Given the description of an element on the screen output the (x, y) to click on. 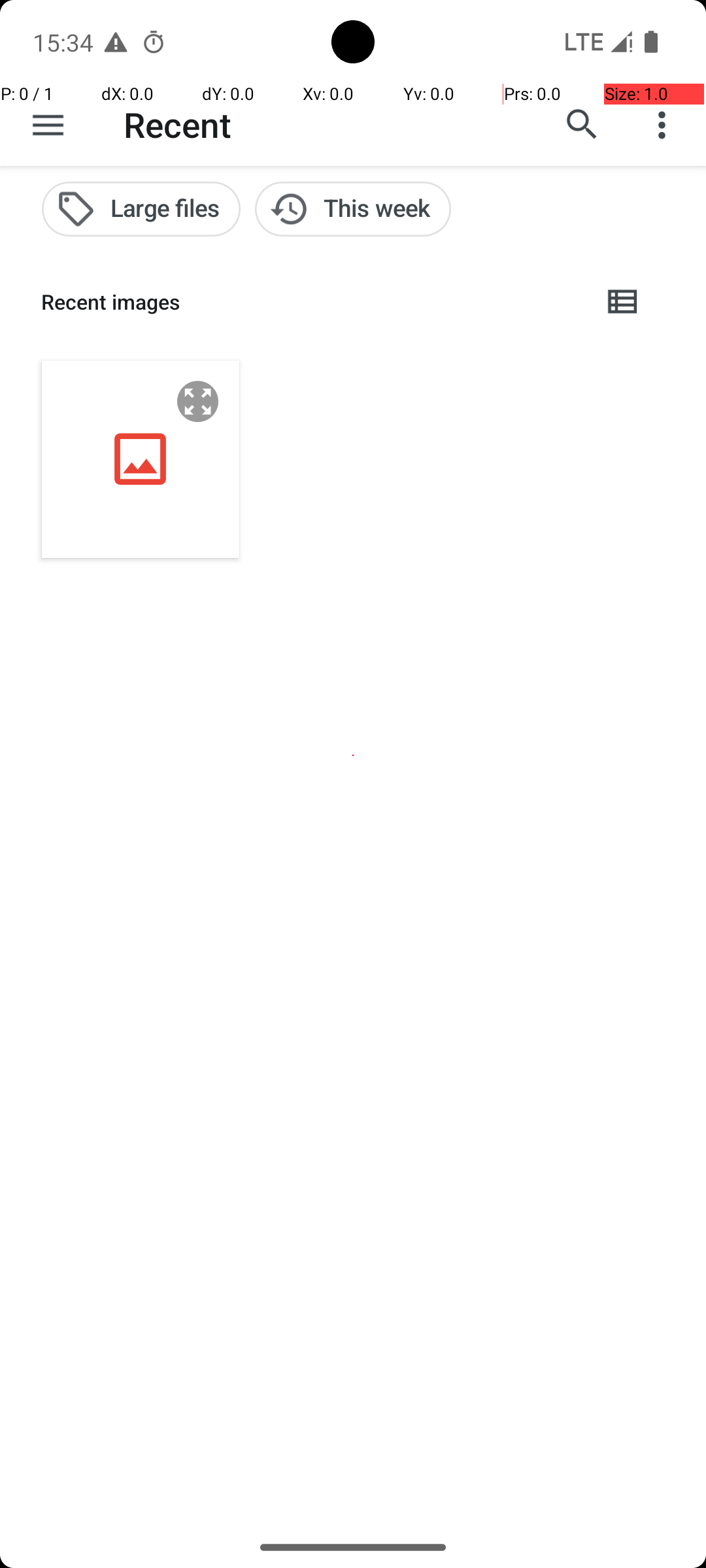
Recent images Element type: android.widget.TextView (311, 301)
IMG_20231015_153414.jpg, 145 kB, 15:34 Element type: android.widget.LinearLayout (140, 458)
Preview the file IMG_20231015_153414.jpg Element type: android.widget.FrameLayout (197, 401)
